Given the description of an element on the screen output the (x, y) to click on. 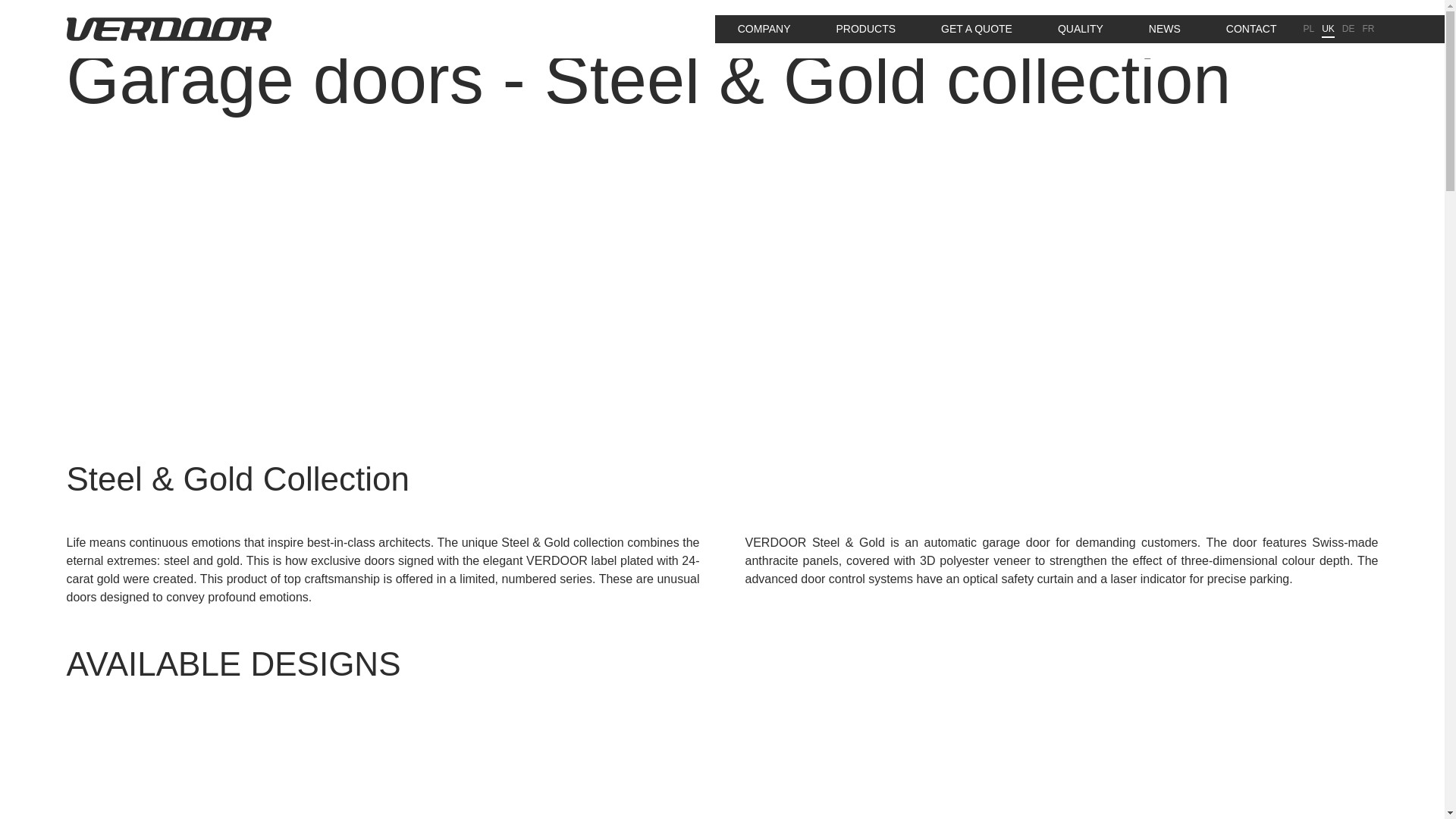
QUALITY (1080, 29)
PRODUCTS (865, 29)
COMPANY (763, 29)
UK (1327, 29)
CONTACT (1252, 29)
GET A QUOTE (230, 769)
FR (1214, 769)
NEWS (976, 29)
DE (885, 769)
PL (1368, 29)
